Given the description of an element on the screen output the (x, y) to click on. 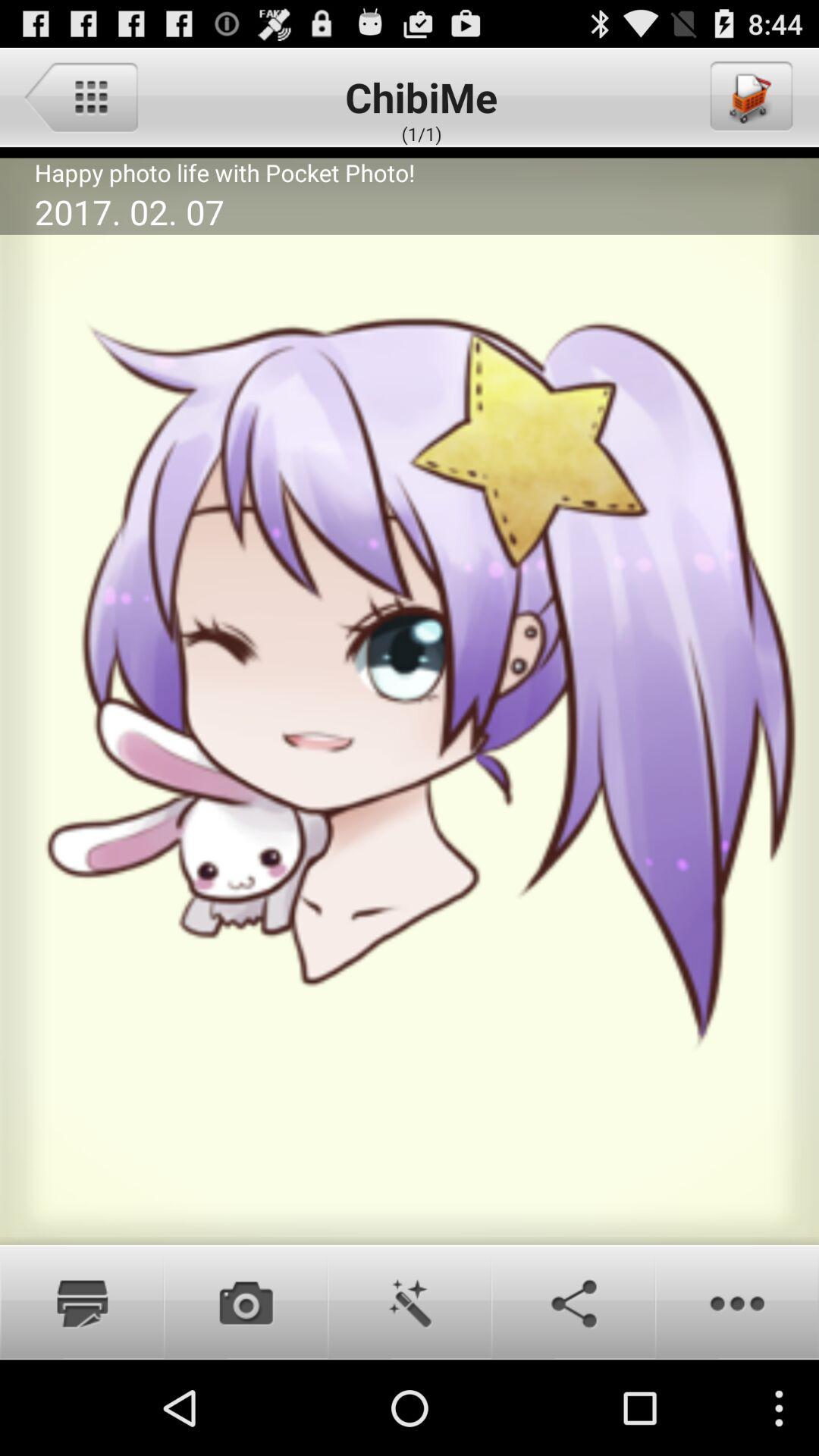
share the content (573, 1301)
